Given the description of an element on the screen output the (x, y) to click on. 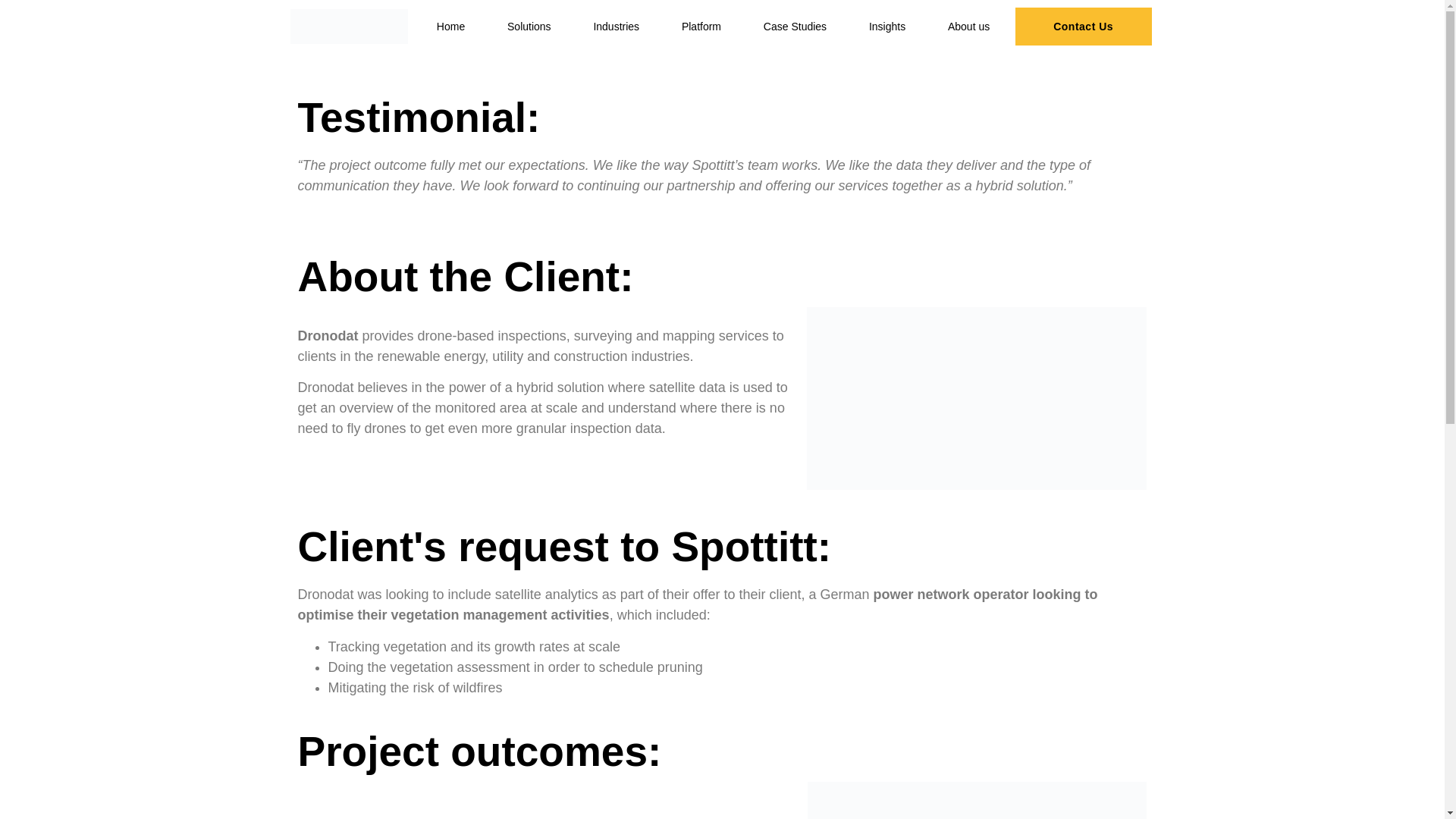
Solutions (529, 26)
Platform (701, 26)
Home (450, 26)
About us (969, 26)
Insights (887, 26)
Industries (616, 26)
Case Studies (794, 26)
